Given the description of an element on the screen output the (x, y) to click on. 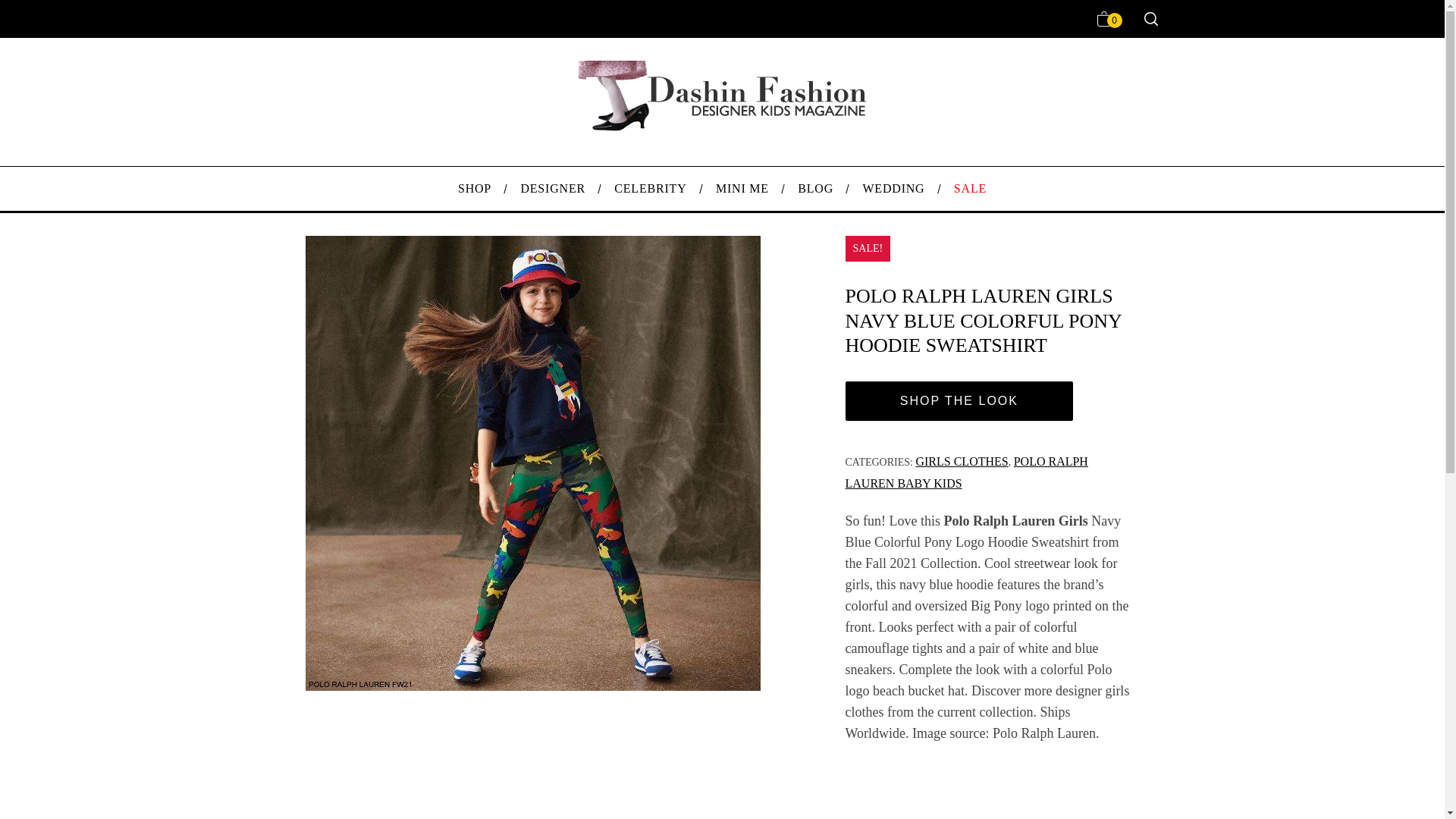
DESIGNER (552, 188)
SALE (970, 188)
MINI ME (742, 188)
BLOG (815, 188)
WEDDING (893, 188)
CELEBRITY (650, 188)
